Given the description of an element on the screen output the (x, y) to click on. 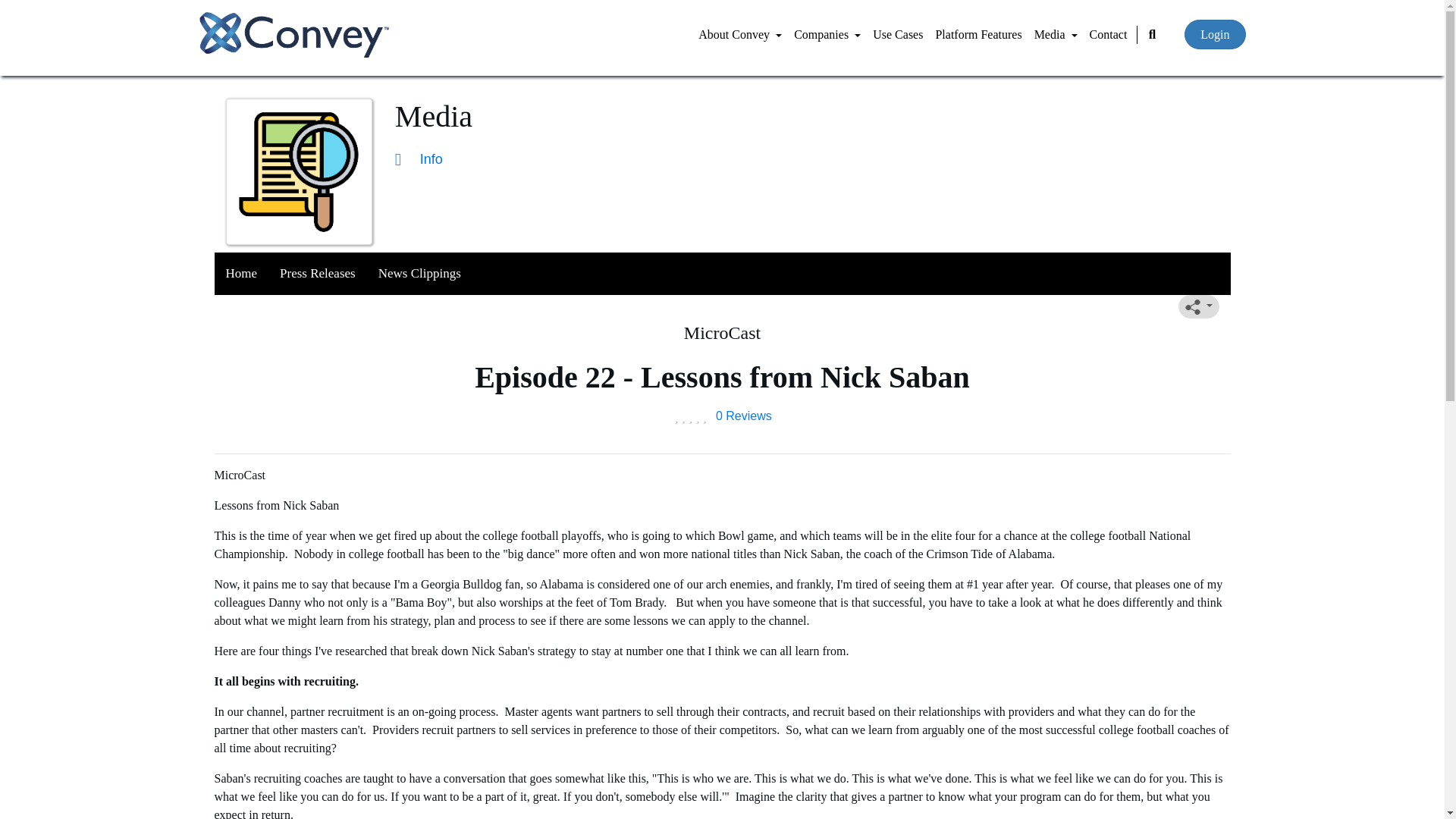
Platform Features (977, 34)
Login (1214, 34)
About Convey (740, 34)
Companies (826, 34)
Info (418, 159)
Use Cases (897, 34)
Contact (1108, 34)
Media (1055, 34)
